Given the description of an element on the screen output the (x, y) to click on. 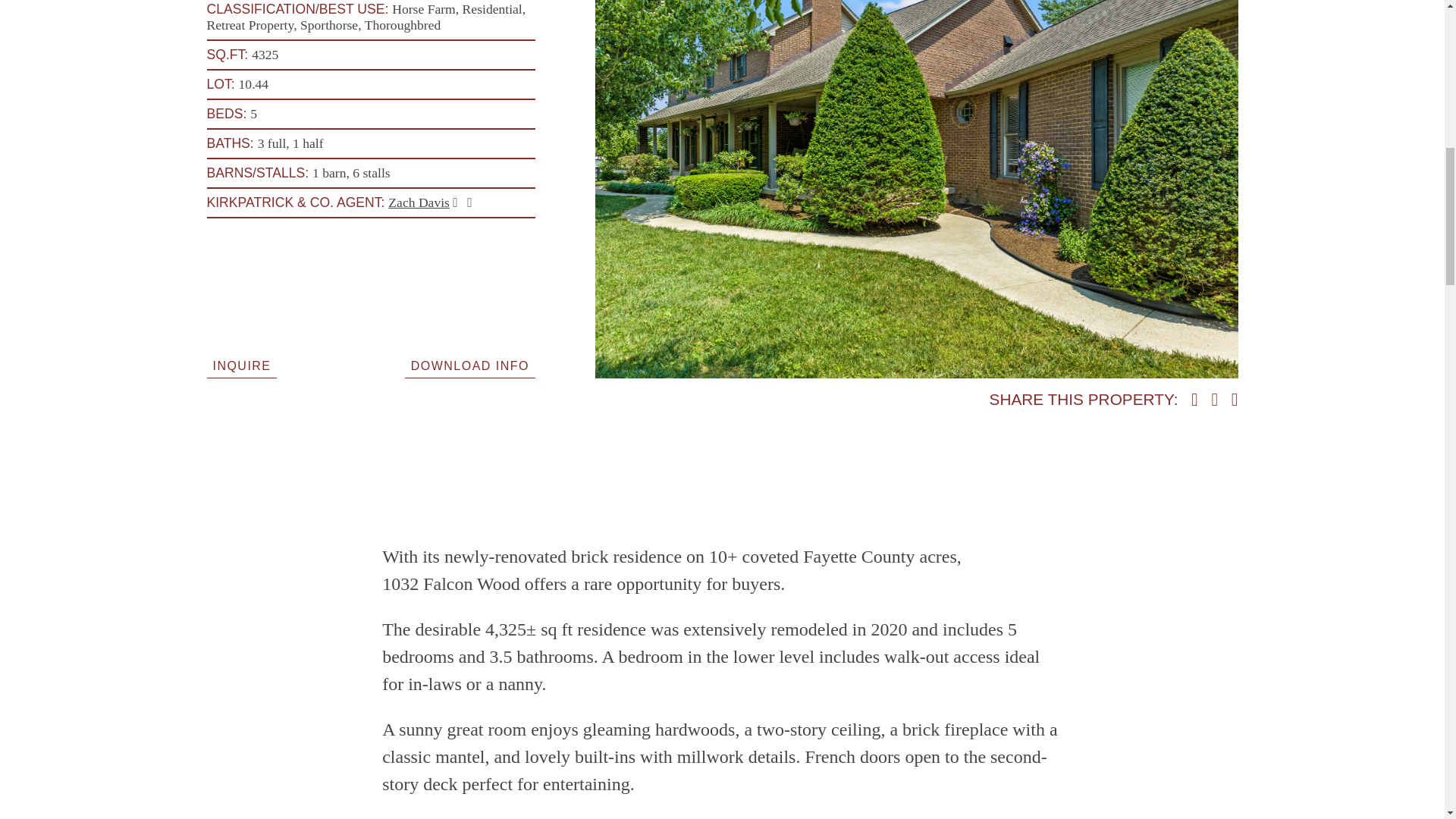
INQUIRE (241, 364)
Zach Davis (418, 201)
DOWNLOAD INFO (469, 364)
